Given the description of an element on the screen output the (x, y) to click on. 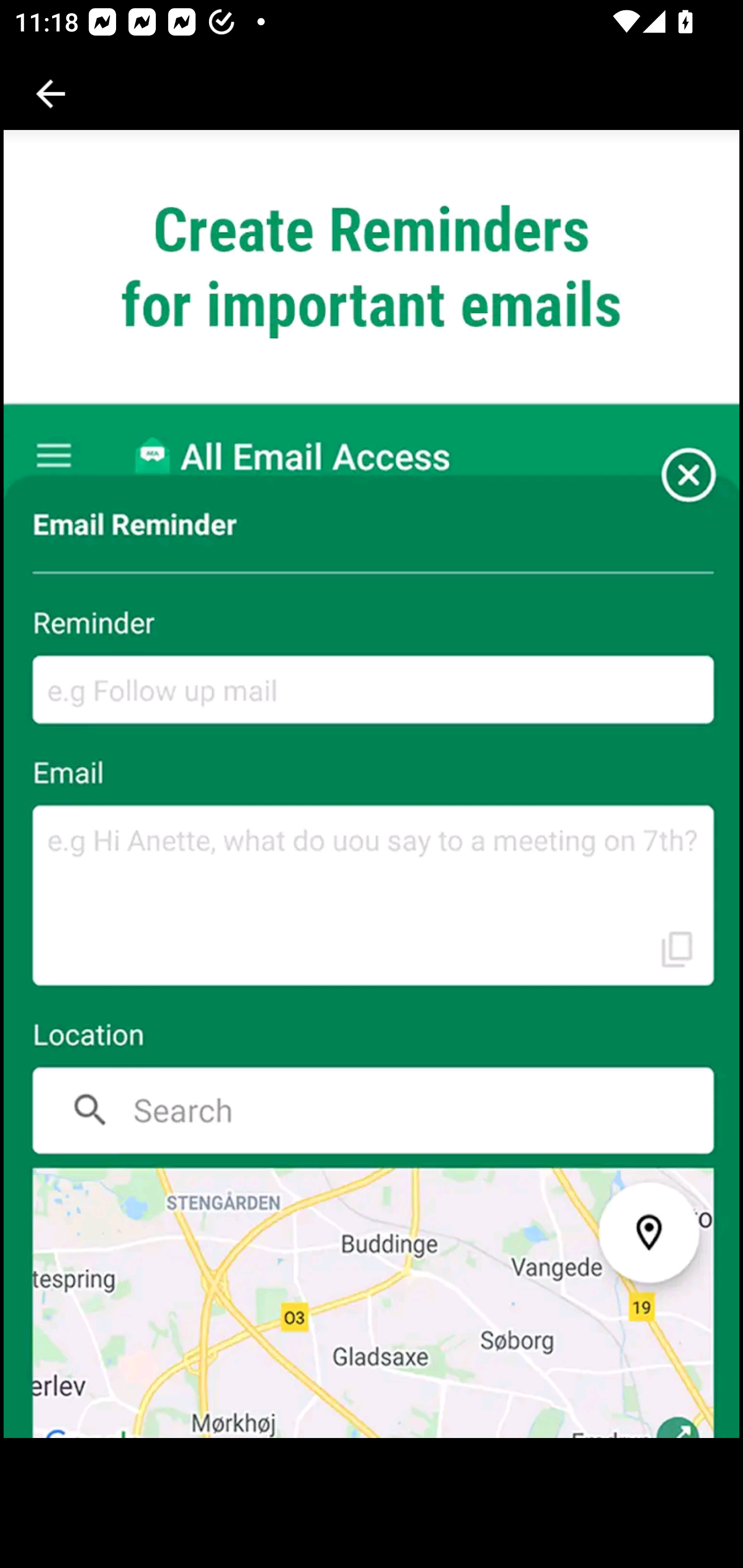
Back (50, 93)
